Given the description of an element on the screen output the (x, y) to click on. 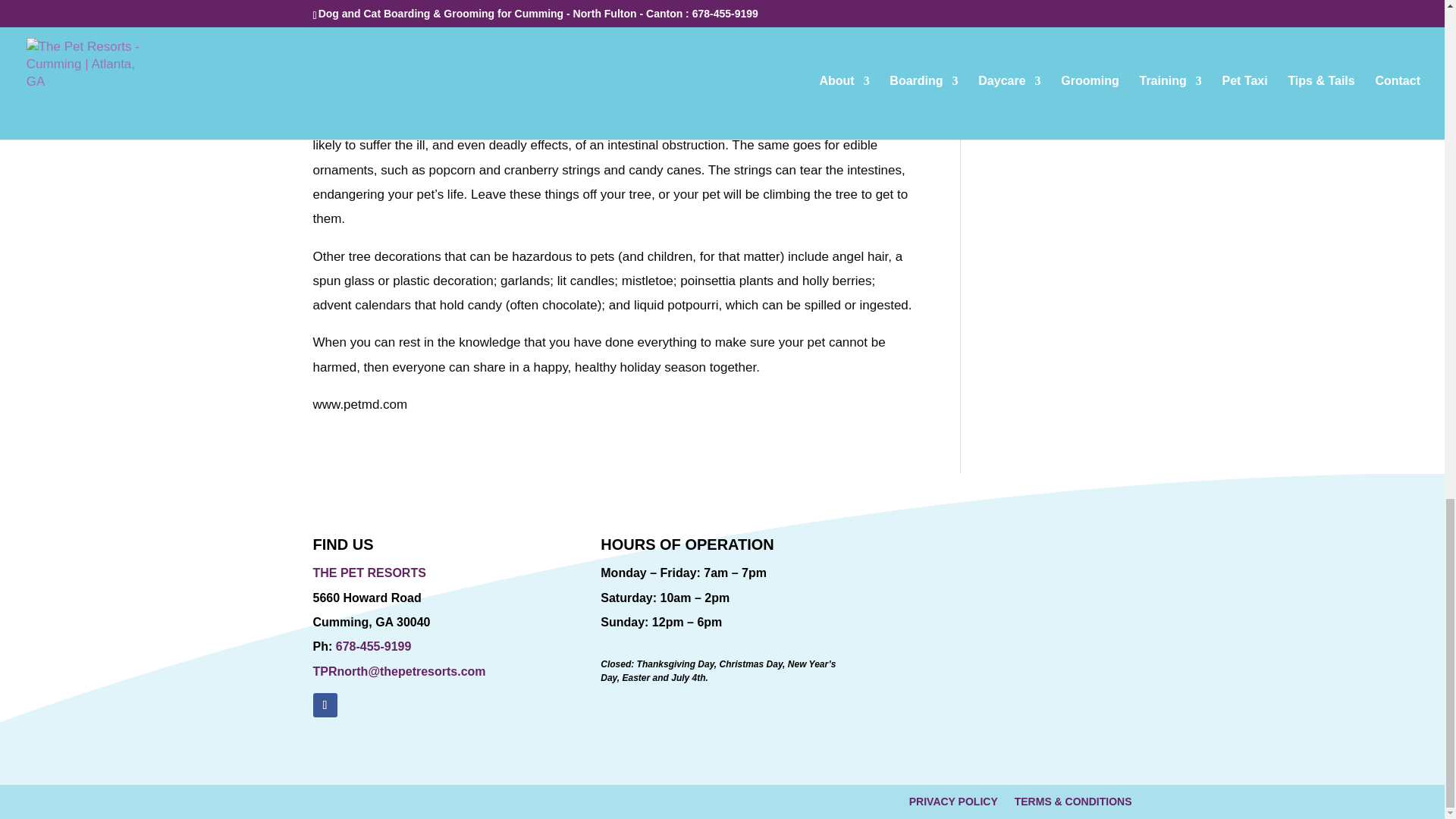
 678-455-9199 (370, 645)
THE PET RESORTS (369, 572)
PRIVACY POLICY (952, 804)
Follow on Facebook (324, 704)
